Given the description of an element on the screen output the (x, y) to click on. 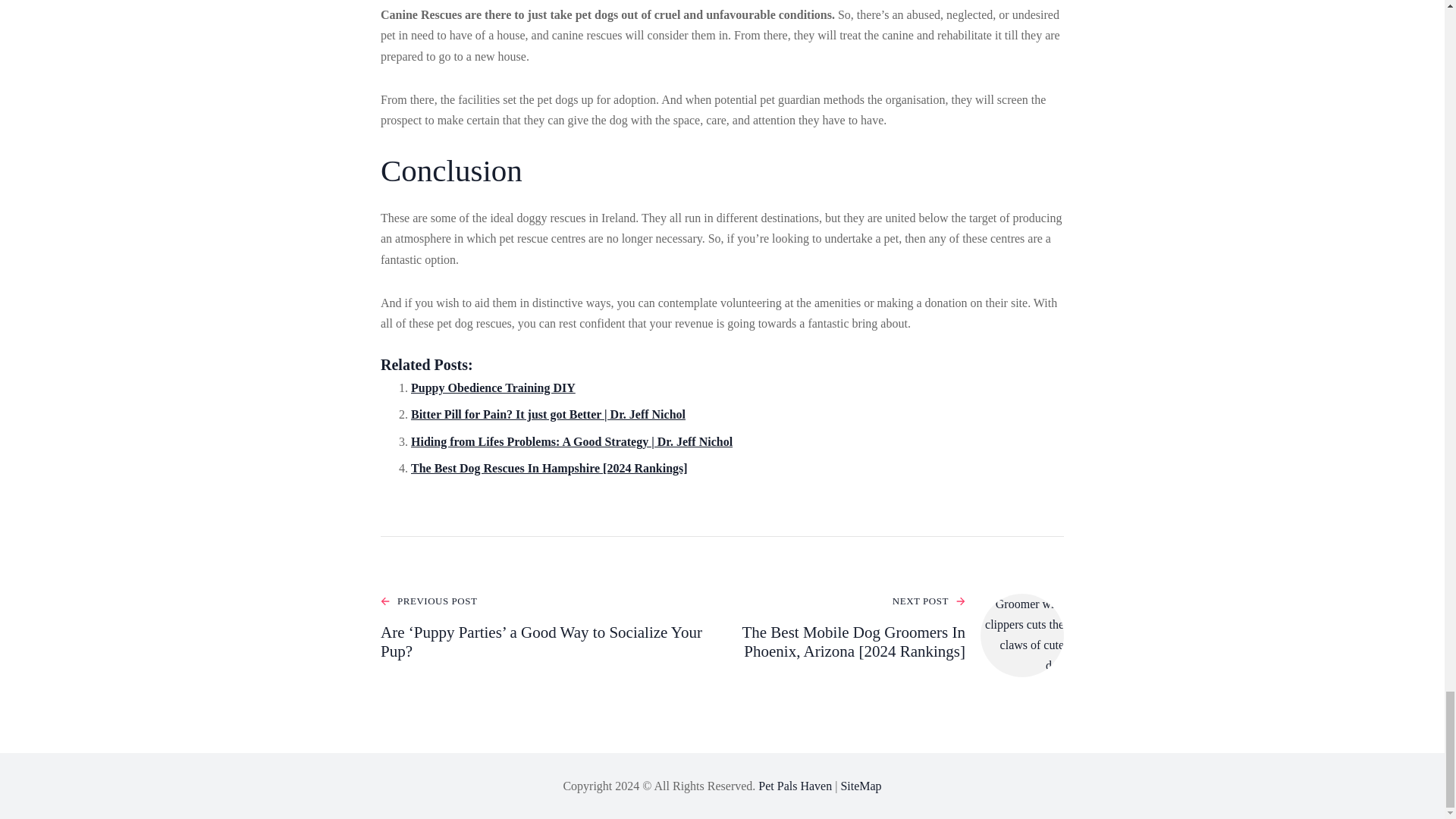
Puppy Obedience Training DIY (492, 387)
Pet Pals Haven (794, 785)
Puppy Obedience Training DIY (492, 387)
SiteMap (860, 785)
